Given the description of an element on the screen output the (x, y) to click on. 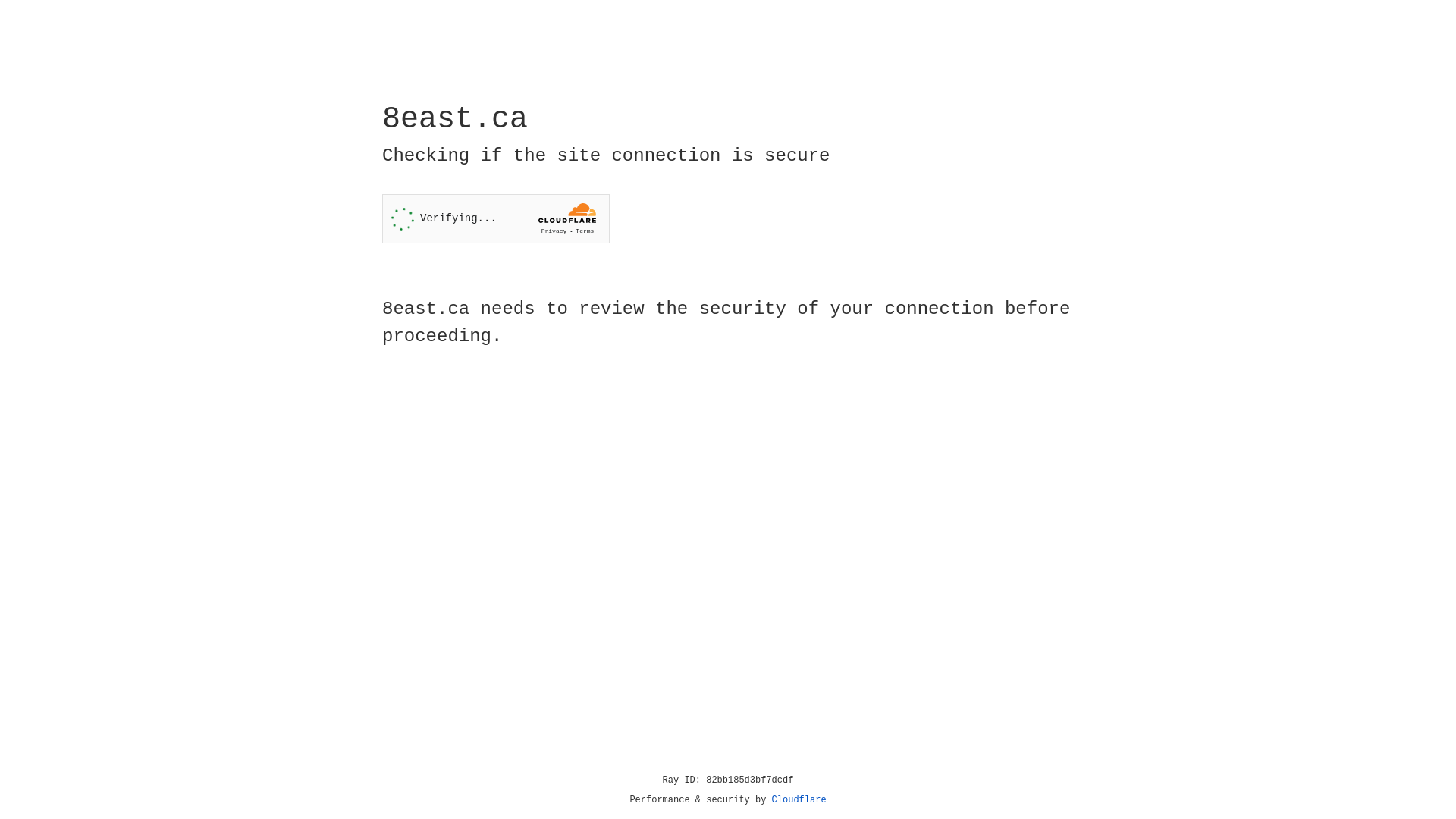
Cloudflare Element type: text (798, 799)
Widget containing a Cloudflare security challenge Element type: hover (495, 218)
